Given the description of an element on the screen output the (x, y) to click on. 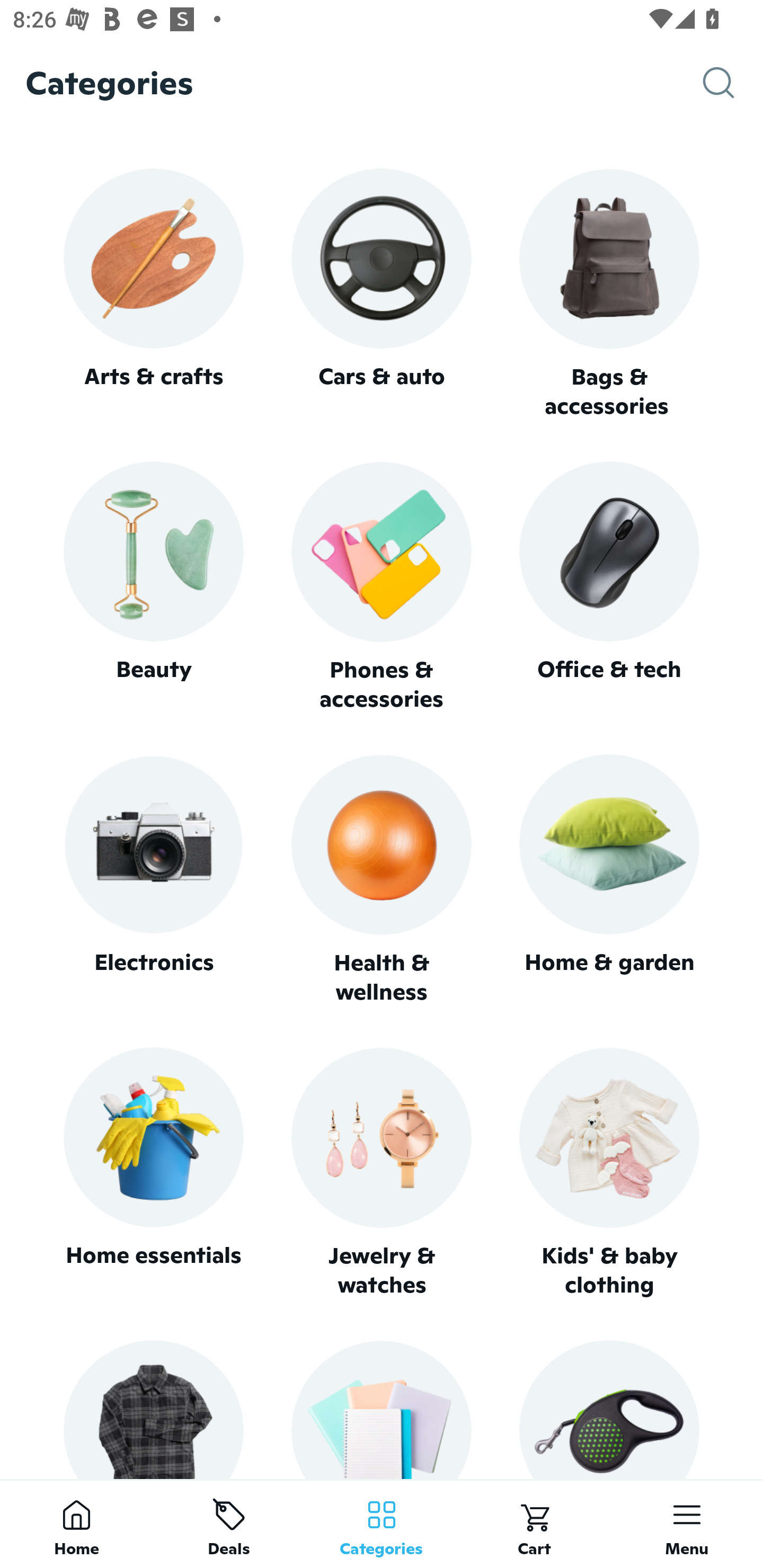
Search (732, 82)
Arts & crafts (153, 293)
Cars & auto (381, 293)
Bags & accessories  (609, 294)
Beauty (153, 586)
Office & tech (609, 586)
Phones & accessories (381, 587)
Electronics (153, 880)
Home & garden (609, 880)
Health & wellness (381, 880)
Home essentials (153, 1172)
Jewelry & watches (381, 1172)
Kids' & baby clothing (609, 1172)
Men's clothing (153, 1409)
Pet supplies (609, 1409)
Office & school supplies (381, 1409)
Home (76, 1523)
Deals (228, 1523)
Categories (381, 1523)
Cart (533, 1523)
Menu (686, 1523)
